Given the description of an element on the screen output the (x, y) to click on. 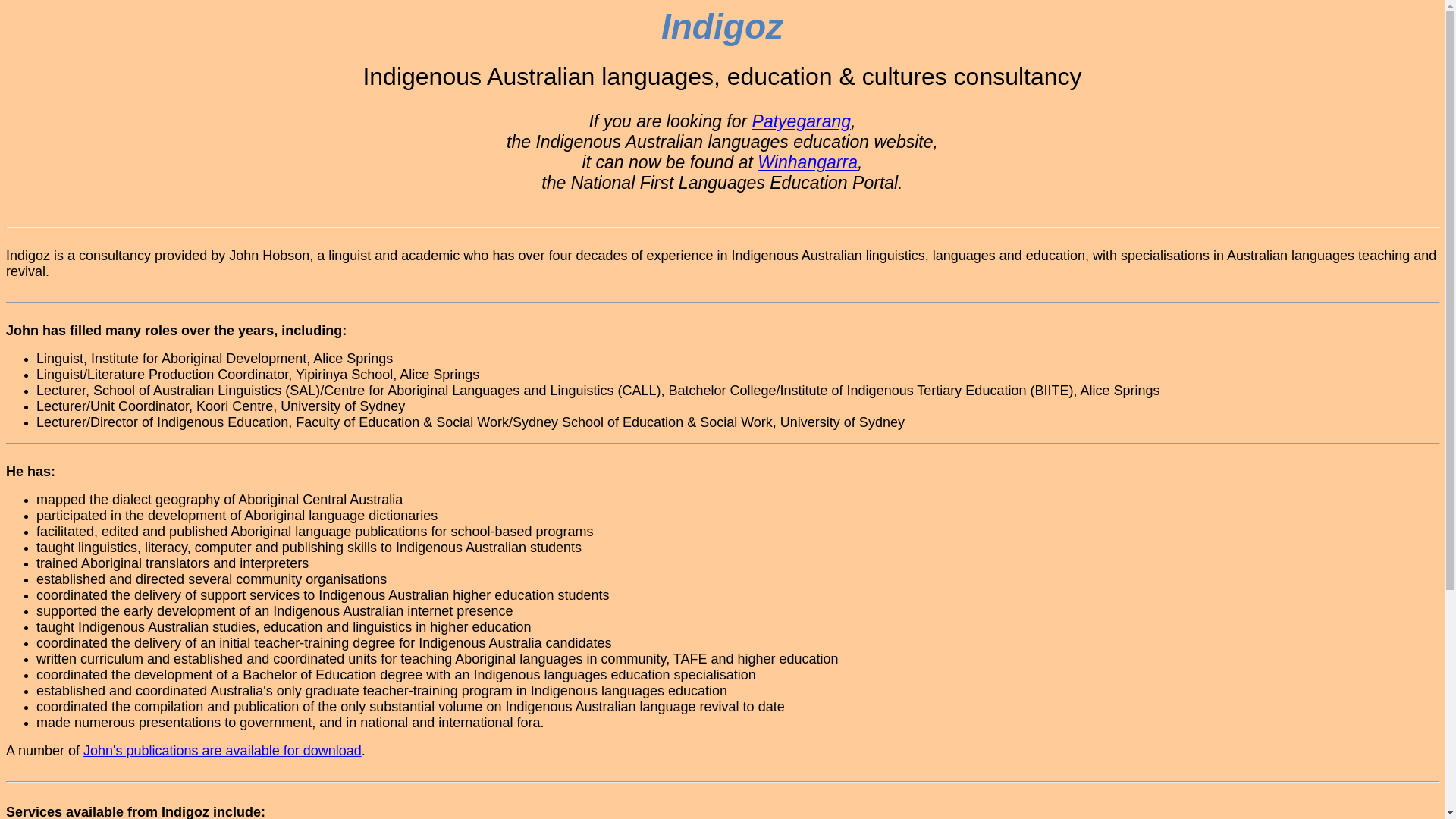
John's publications are available for download Element type: text (222, 750)
Winhangarra Element type: text (807, 162)
Patyegarang Element type: text (801, 121)
